Given the description of an element on the screen output the (x, y) to click on. 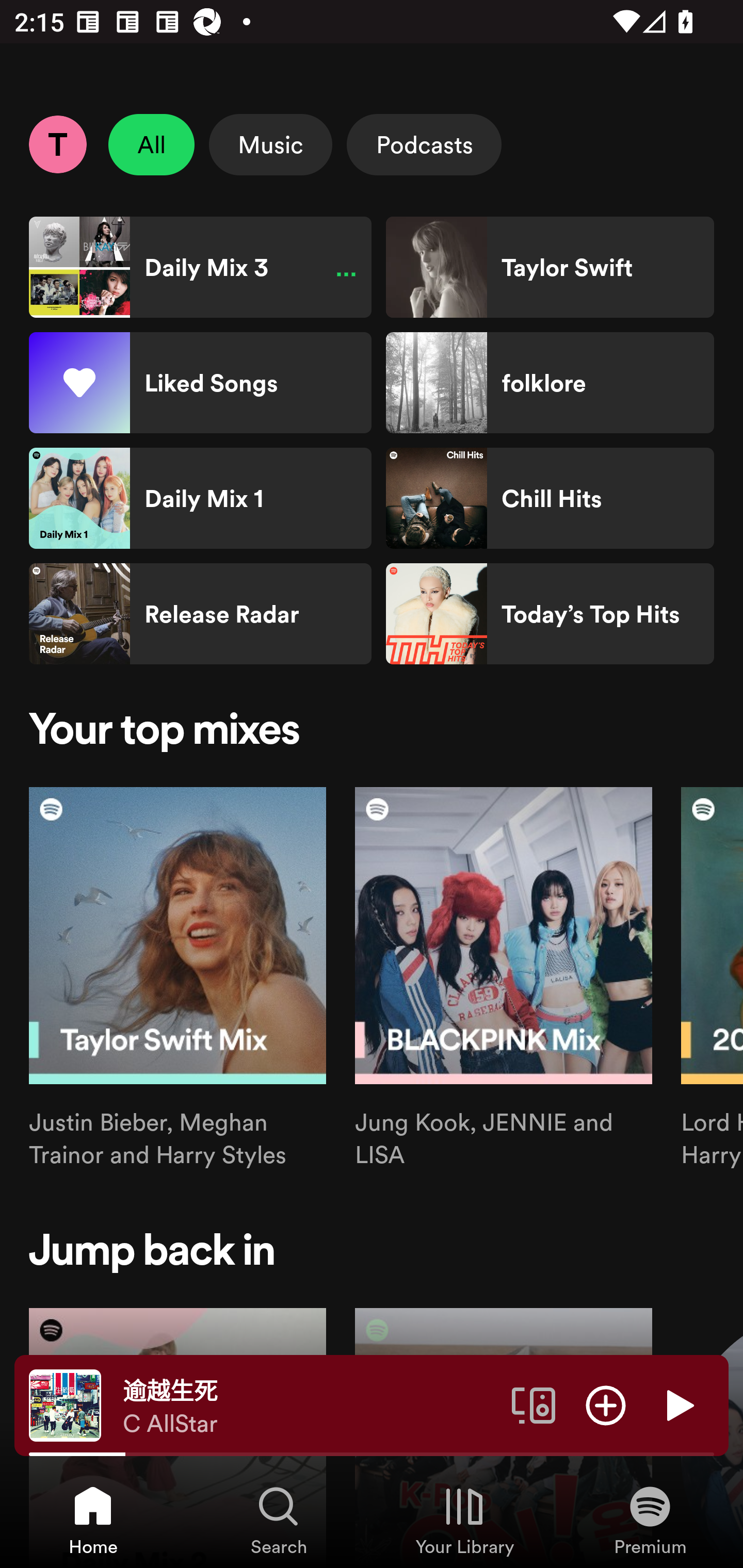
Profile (57, 144)
All Unselect All (151, 144)
Music Select Music (270, 144)
Podcasts Select Podcasts (423, 144)
Daily Mix 3 Shortcut Daily Mix 3 Paused (199, 267)
Taylor Swift Shortcut Taylor Swift (549, 267)
Liked Songs Shortcut Liked Songs (199, 382)
folklore Shortcut folklore (549, 382)
Daily Mix 1 Shortcut Daily Mix 1 (199, 498)
Chill Hits Shortcut Chill Hits (549, 498)
Release Radar Shortcut Release Radar (199, 613)
Today’s Top Hits Shortcut Today’s Top Hits (549, 613)
逾越生死 C AllStar (309, 1405)
The cover art of the currently playing track (64, 1404)
Connect to a device. Opens the devices menu (533, 1404)
Add item (605, 1404)
Play (677, 1404)
Home, Tab 1 of 4 Home Home (92, 1519)
Search, Tab 2 of 4 Search Search (278, 1519)
Your Library, Tab 3 of 4 Your Library Your Library (464, 1519)
Premium, Tab 4 of 4 Premium Premium (650, 1519)
